Given the description of an element on the screen output the (x, y) to click on. 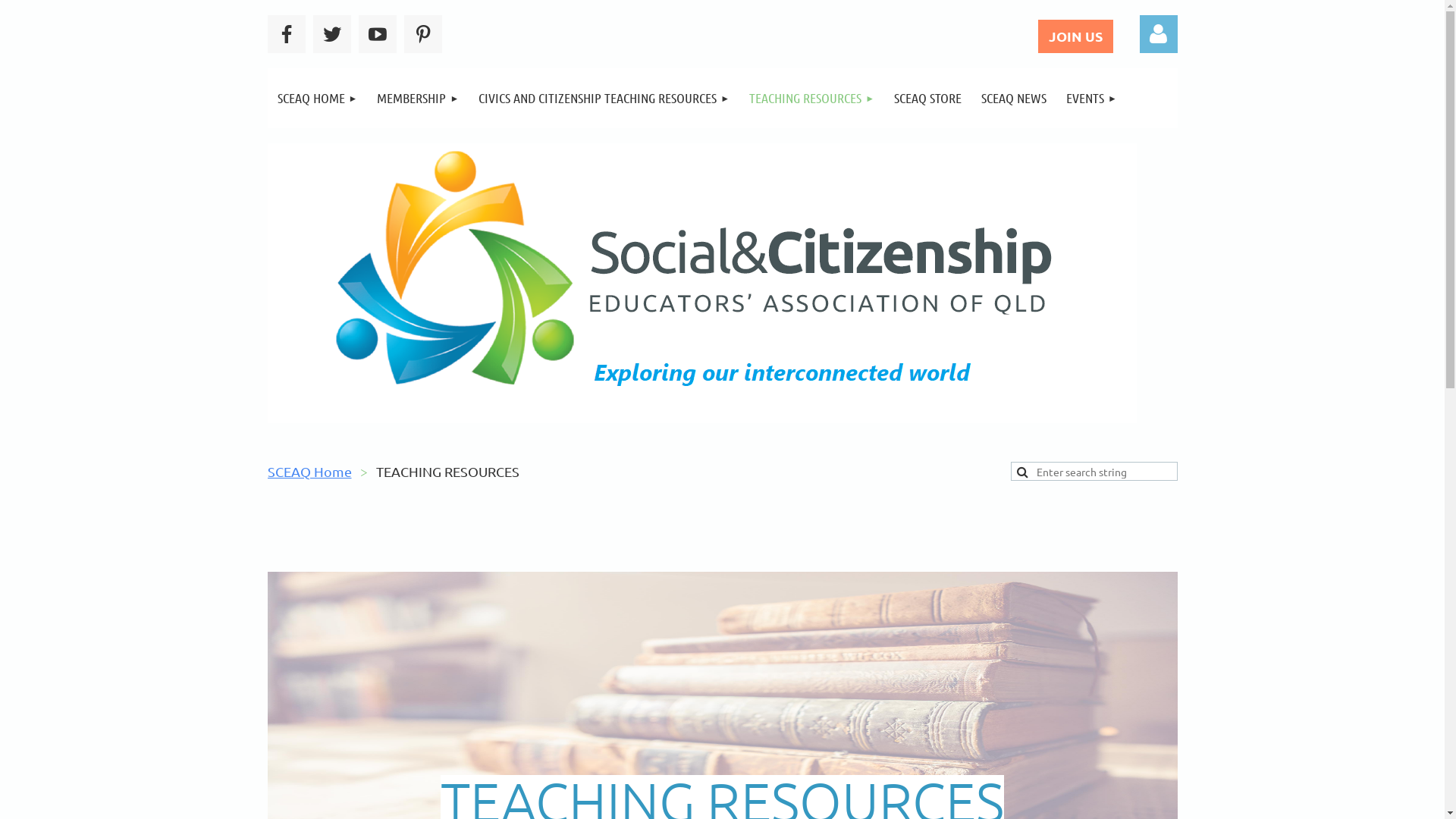
MEMBERSHIP Element type: text (417, 98)
Log in Element type: text (1157, 34)
CIVICS AND CITIZENSHIP TEACHING RESOURCES Element type: text (603, 98)
JOIN US Element type: text (1075, 36)
TEACHING RESOURCES Element type: text (811, 98)
SCEAQ NEWS Element type: text (1013, 98)
Facebook Element type: hover (285, 34)
SCEAQ HOME Element type: text (316, 98)
SCEAQ Home Element type: text (308, 471)
Pinterest Element type: hover (422, 34)
YouTube Element type: hover (376, 34)
EVENTS Element type: text (1091, 98)
Twitter Element type: hover (331, 34)
SCEAQ STORE Element type: text (927, 98)
